Given the description of an element on the screen output the (x, y) to click on. 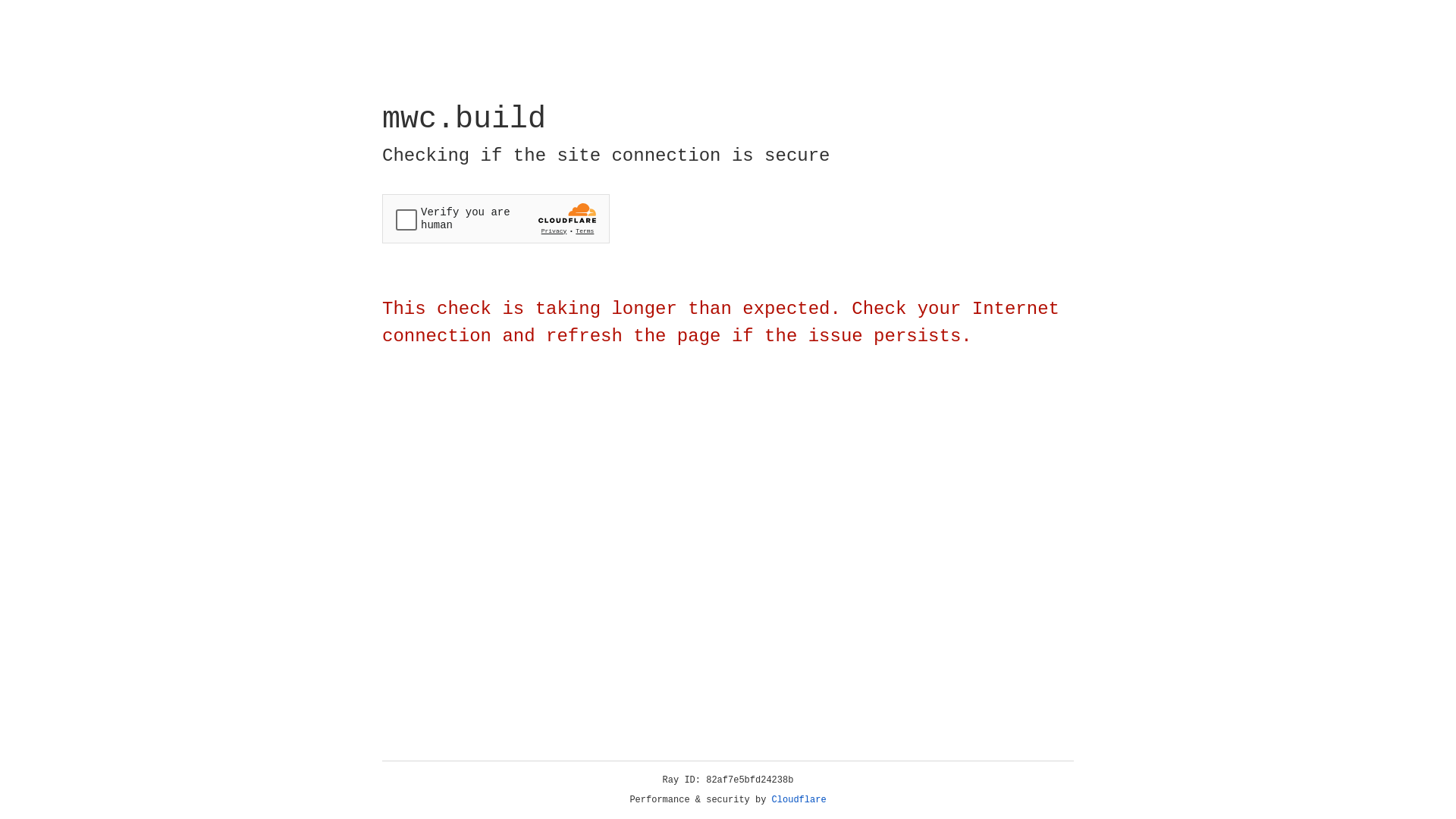
Cloudflare Element type: text (798, 799)
Widget containing a Cloudflare security challenge Element type: hover (495, 218)
